Given the description of an element on the screen output the (x, y) to click on. 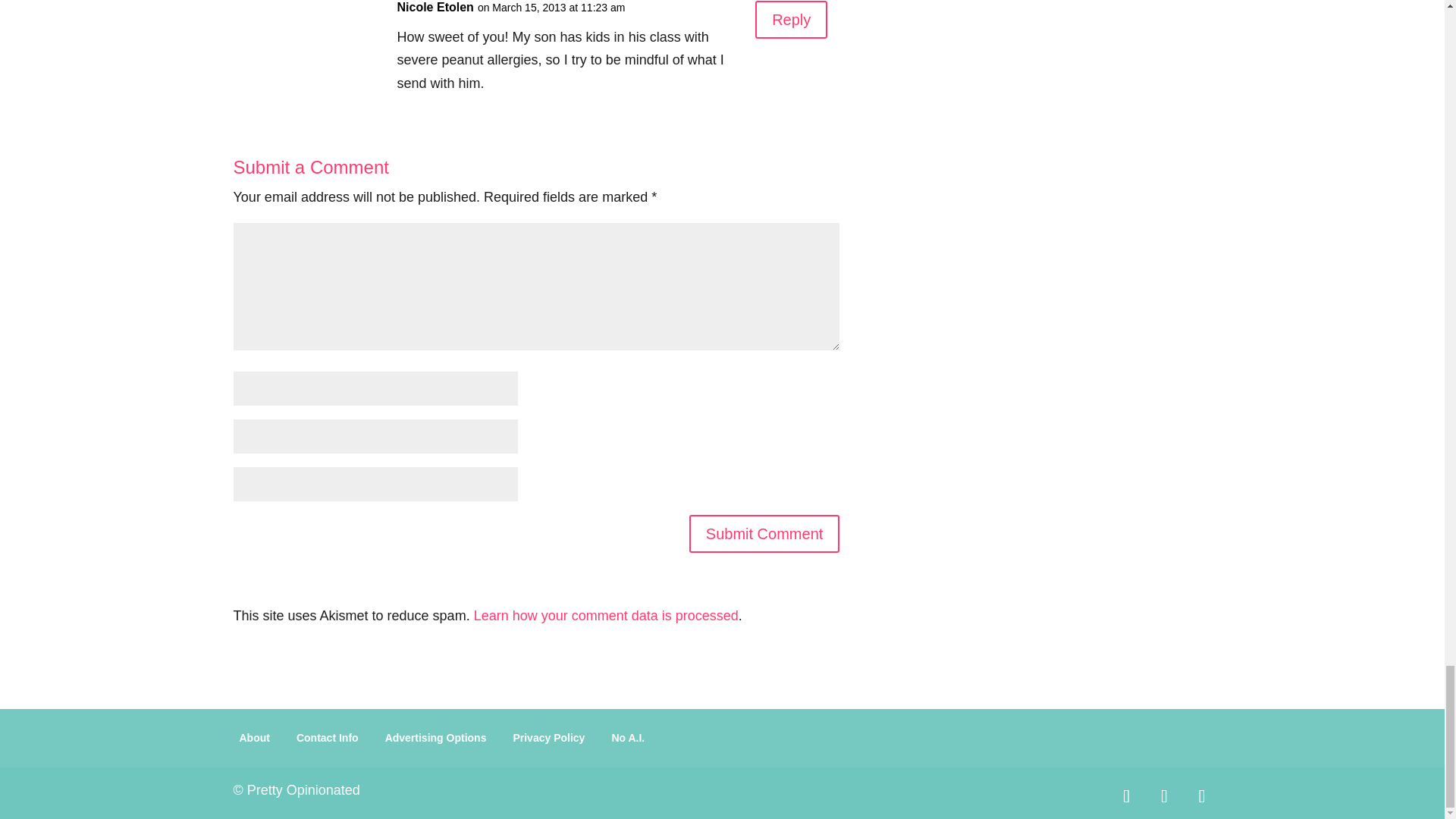
Submit Comment (764, 533)
